Given the description of an element on the screen output the (x, y) to click on. 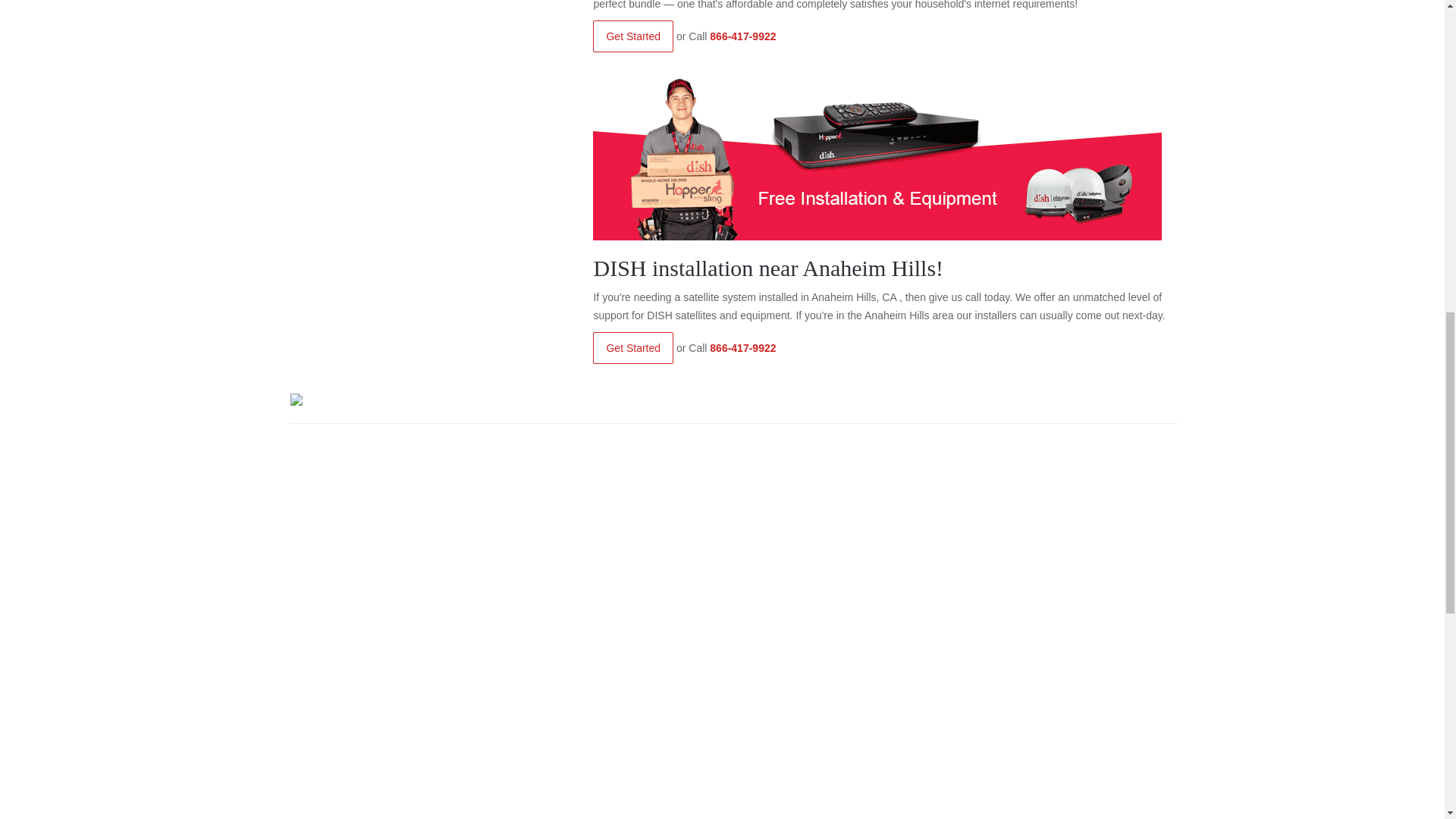
866-417-9922 (743, 347)
Get Started (632, 36)
866-417-9922 (743, 36)
Get Started (632, 347)
